Given the description of an element on the screen output the (x, y) to click on. 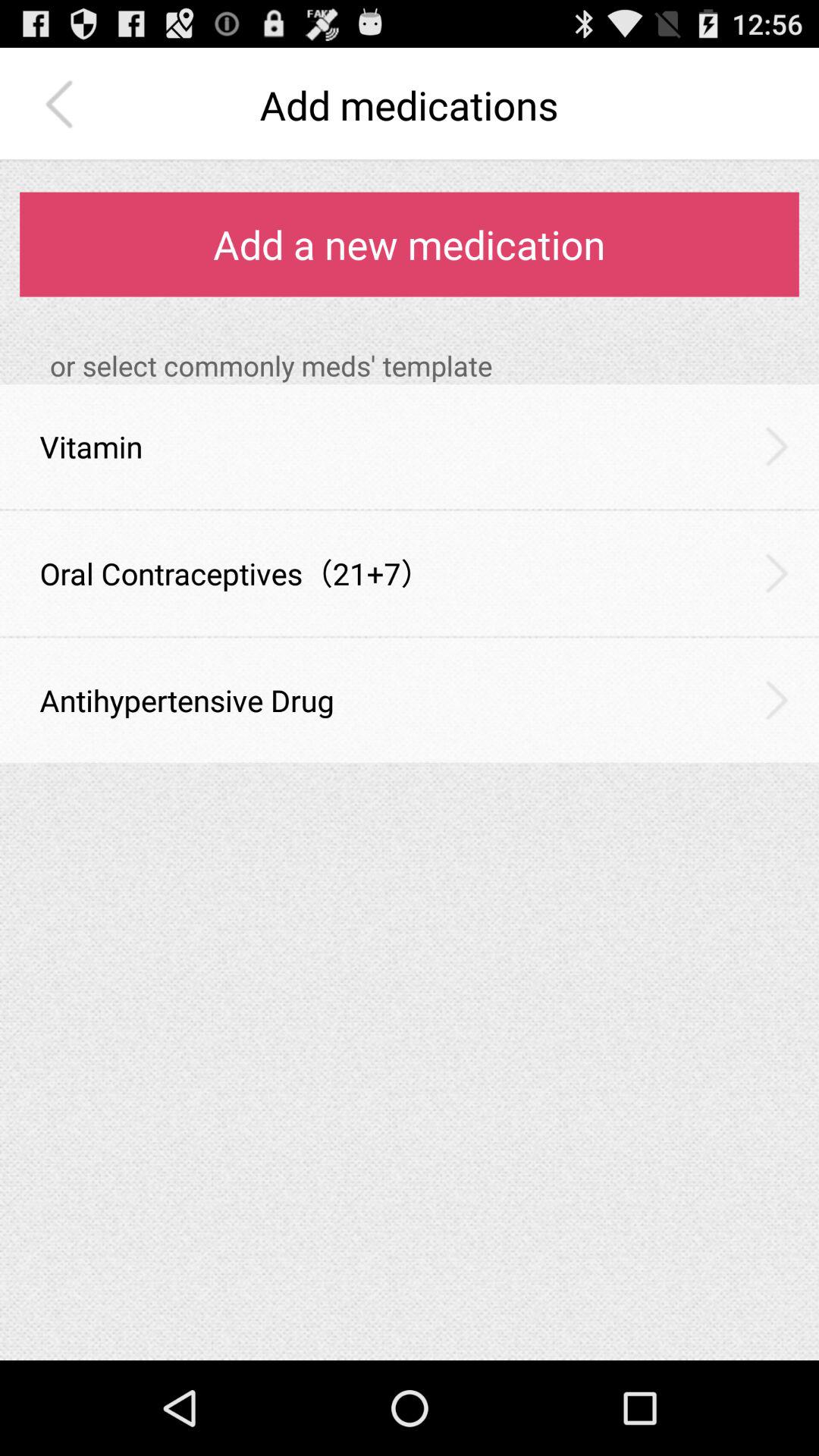
launch the oral contraceptives 21 (235, 573)
